Given the description of an element on the screen output the (x, y) to click on. 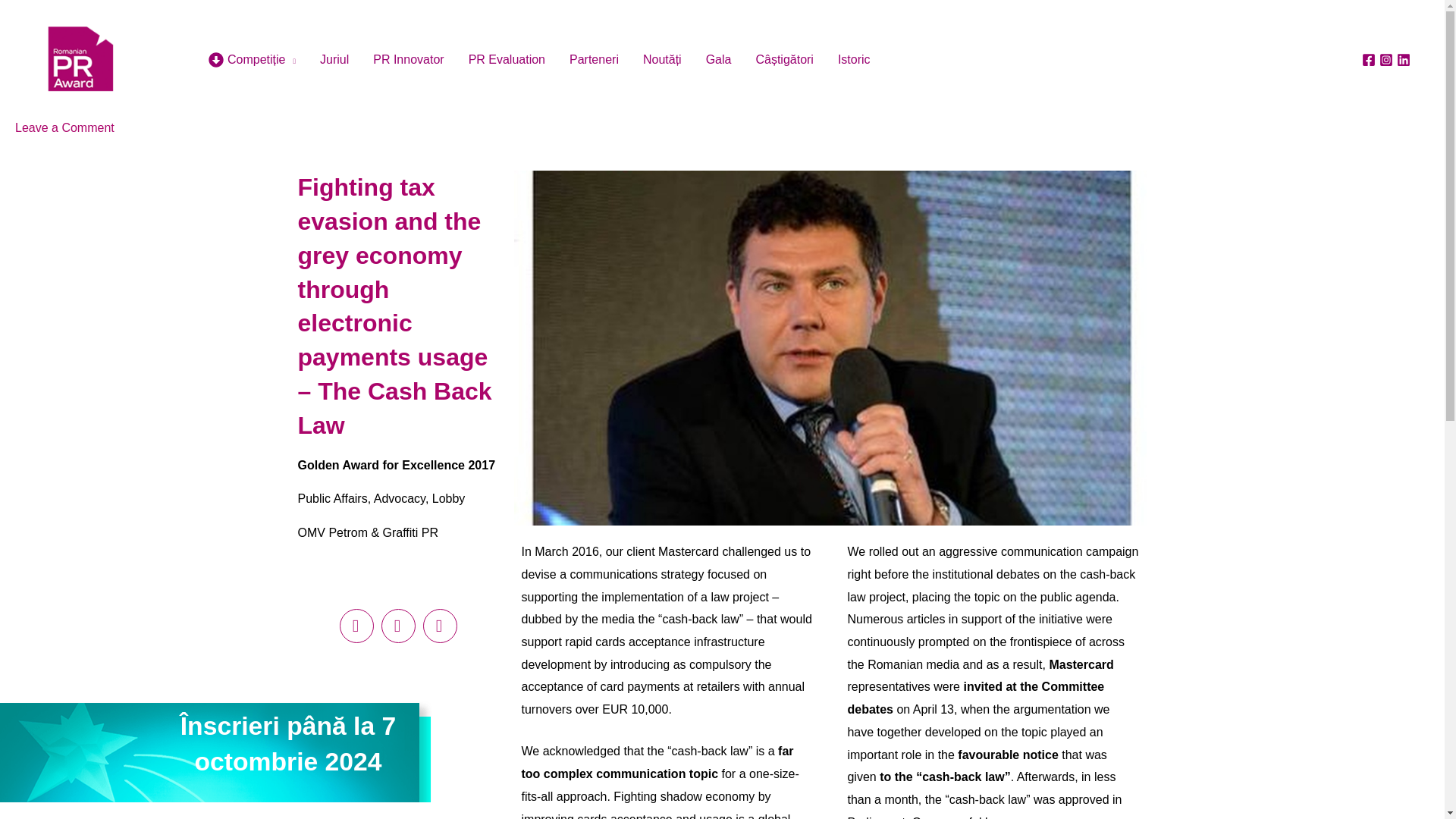
Juriul (334, 59)
Menu Toggle (292, 59)
Parteneri (593, 59)
PR Innovator (408, 59)
Gala (719, 59)
Istoric (853, 59)
Leave a Comment (64, 127)
PR Evaluation (507, 59)
